Given the description of an element on the screen output the (x, y) to click on. 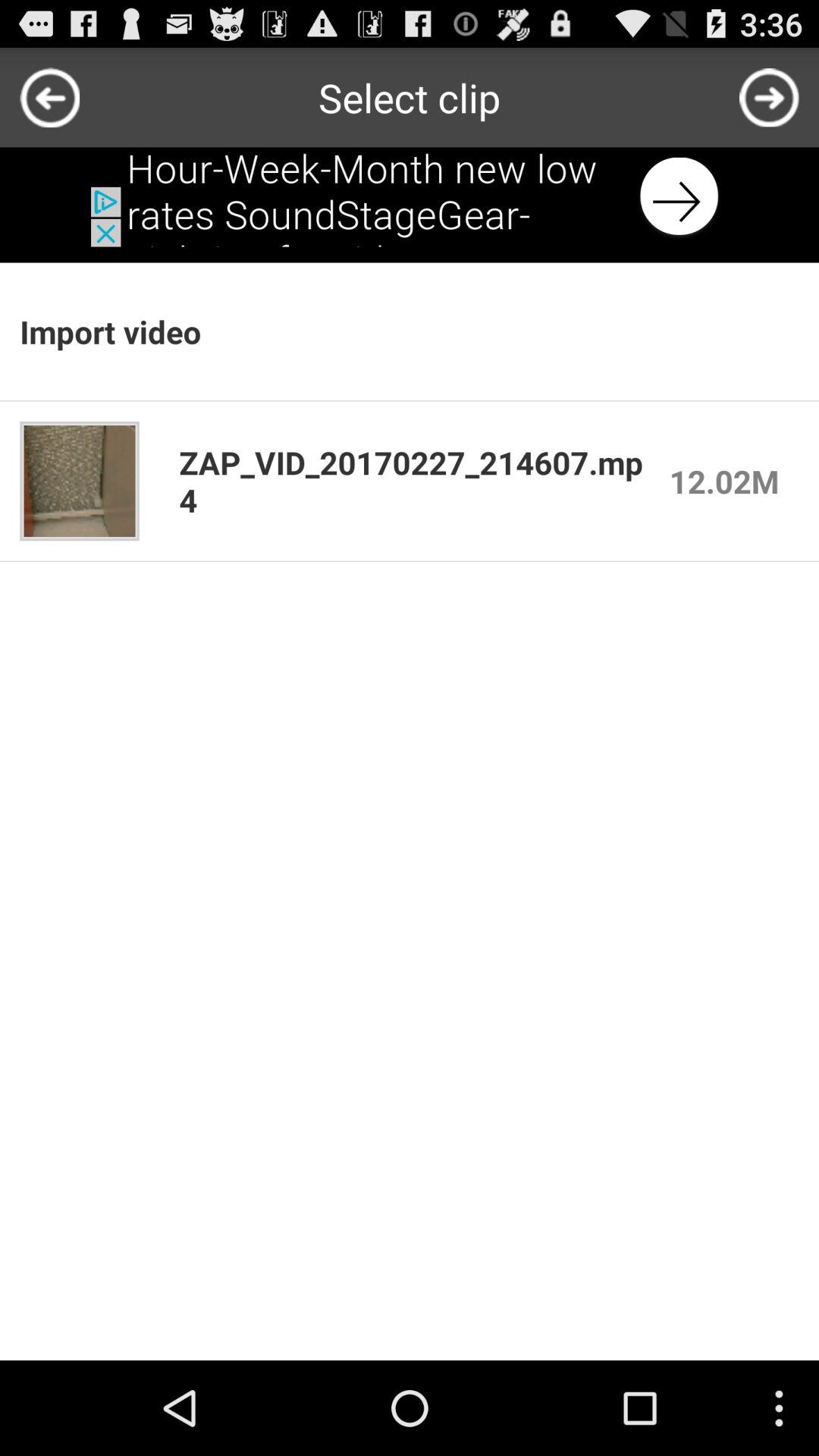
go to next user (769, 97)
